Given the description of an element on the screen output the (x, y) to click on. 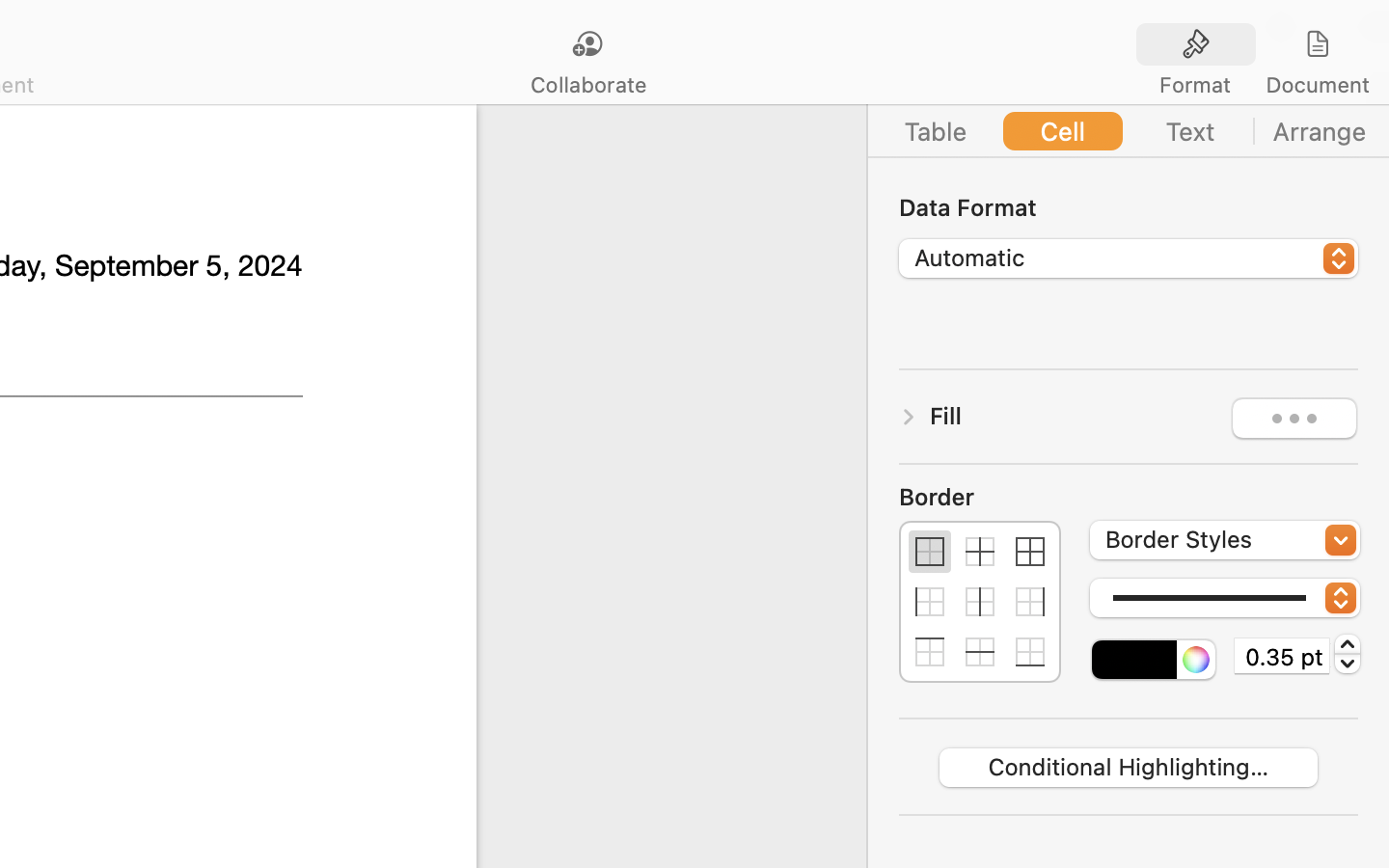
Border Element type: AXStaticText (979, 496)
0.3499999940395355 Element type: AXIncrementor (1347, 653)
